Given the description of an element on the screen output the (x, y) to click on. 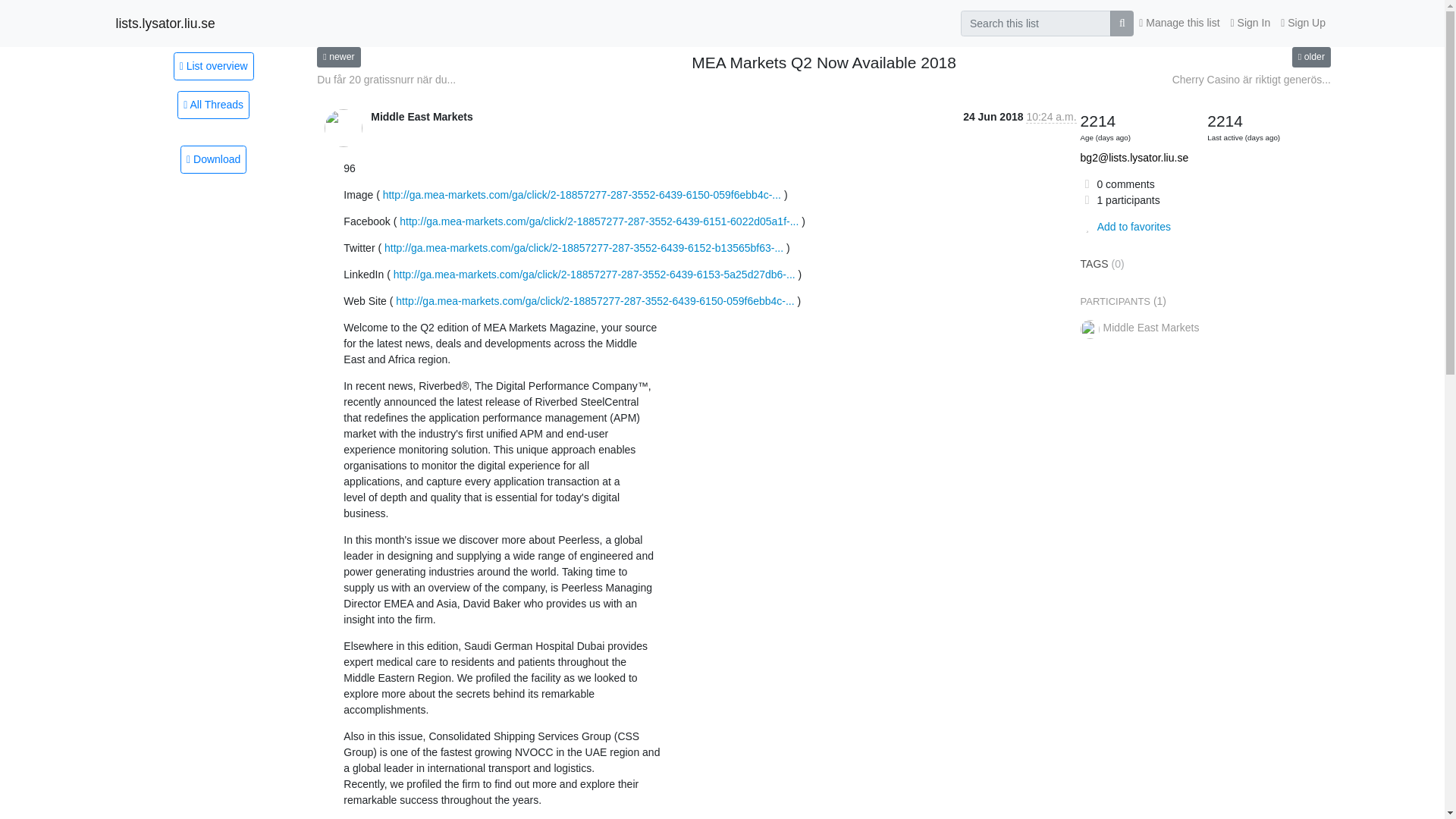
Sign Up (1302, 22)
newer (338, 56)
You must be logged-in to have favorites. (1125, 226)
All Threads (212, 104)
Sender's time: June 24, 2018, 10:24 a.m. (1050, 116)
Manage this list (1179, 22)
Download (213, 159)
Sign In (1250, 22)
older (1311, 56)
lists.lysator.liu.se (164, 22)
List overview (213, 65)
This thread in gzipped mbox format (213, 159)
